Given the description of an element on the screen output the (x, y) to click on. 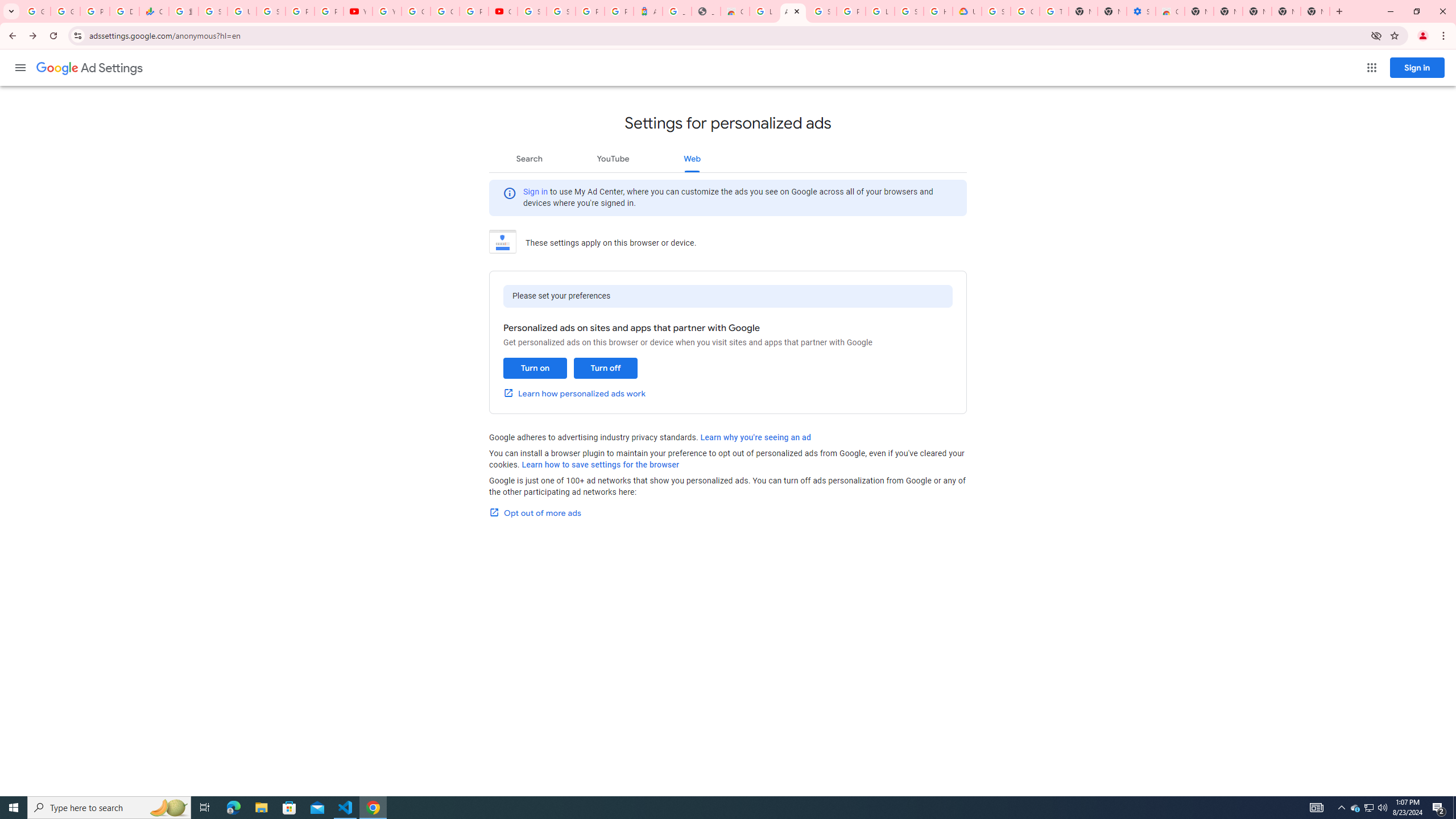
Chrome Web Store - Accessibility extensions (1169, 11)
Sign in - Google Accounts (908, 11)
Ad Settings (89, 68)
YouTube (612, 157)
Create your Google Account (444, 11)
